Given the description of an element on the screen output the (x, y) to click on. 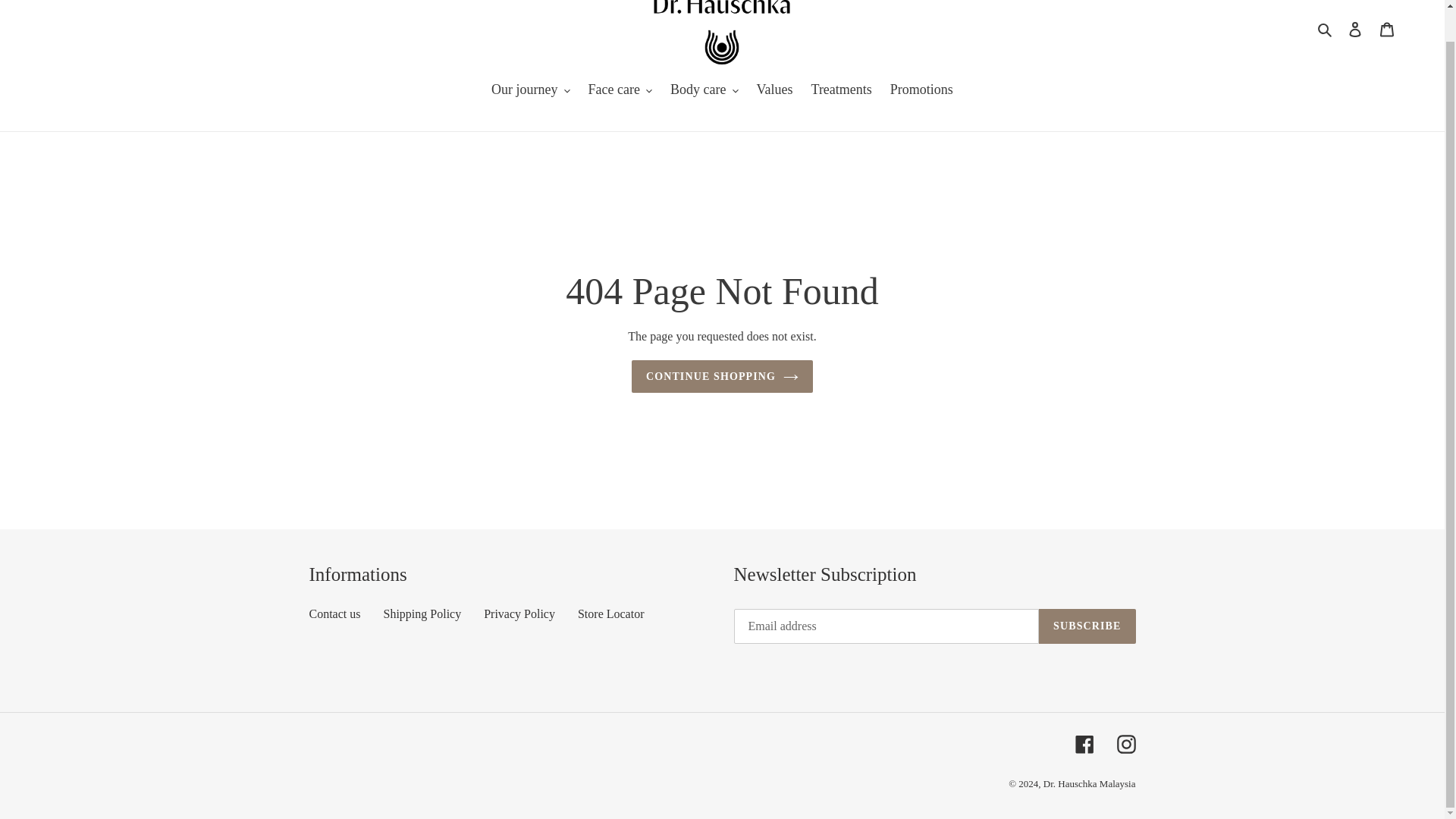
Cart (1387, 28)
Search (1326, 28)
Log in (1355, 28)
